Given the description of an element on the screen output the (x, y) to click on. 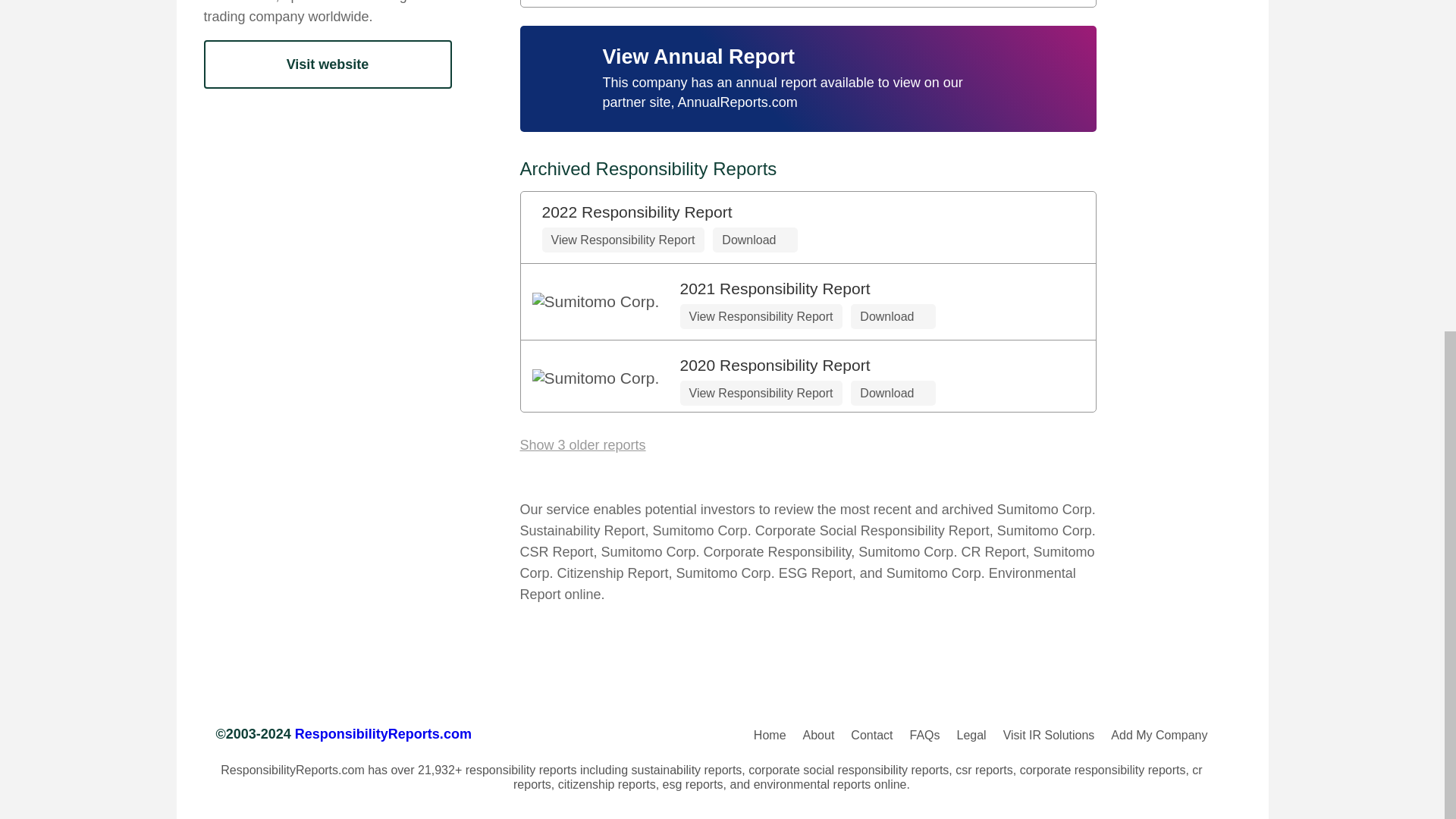
Download (892, 316)
Home (770, 735)
Show 3 older reports (582, 445)
Sumitomo Corp. (600, 378)
About (818, 735)
Download (892, 392)
View Responsibility Report (760, 392)
View Responsibility Report (622, 239)
Contact (871, 735)
Download (754, 239)
Visit website (327, 64)
View Responsibility Report (760, 316)
ResponsibilityReports.com (383, 733)
Sumitomo Corp. (600, 301)
